Given the description of an element on the screen output the (x, y) to click on. 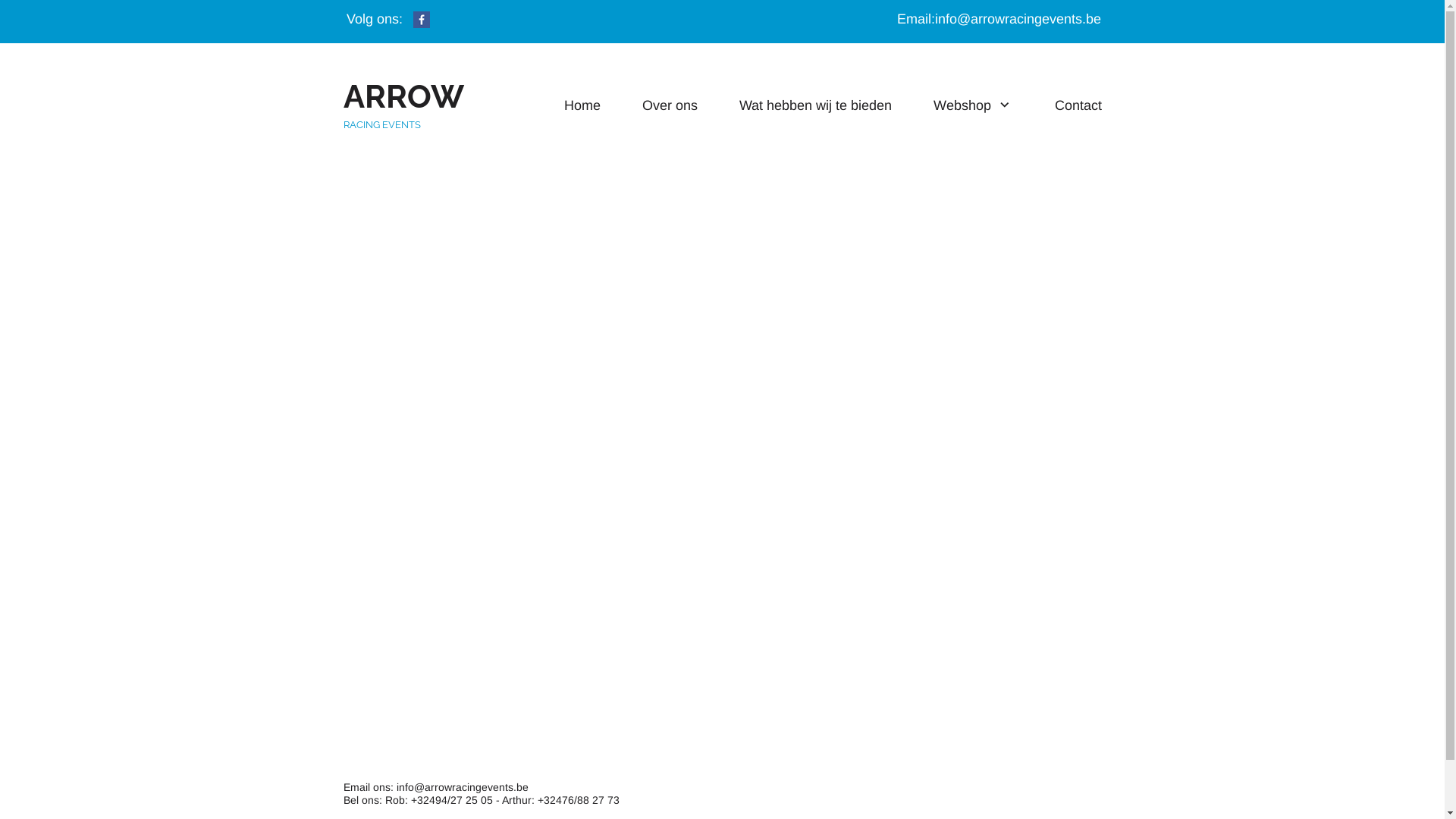
Over ons Element type: text (669, 105)
Home Element type: text (582, 105)
Wat hebben wij te bieden Element type: text (815, 105)
Contact Element type: text (1077, 105)
Webshop Element type: text (972, 105)
ARROW Element type: text (402, 103)
